Given the description of an element on the screen output the (x, y) to click on. 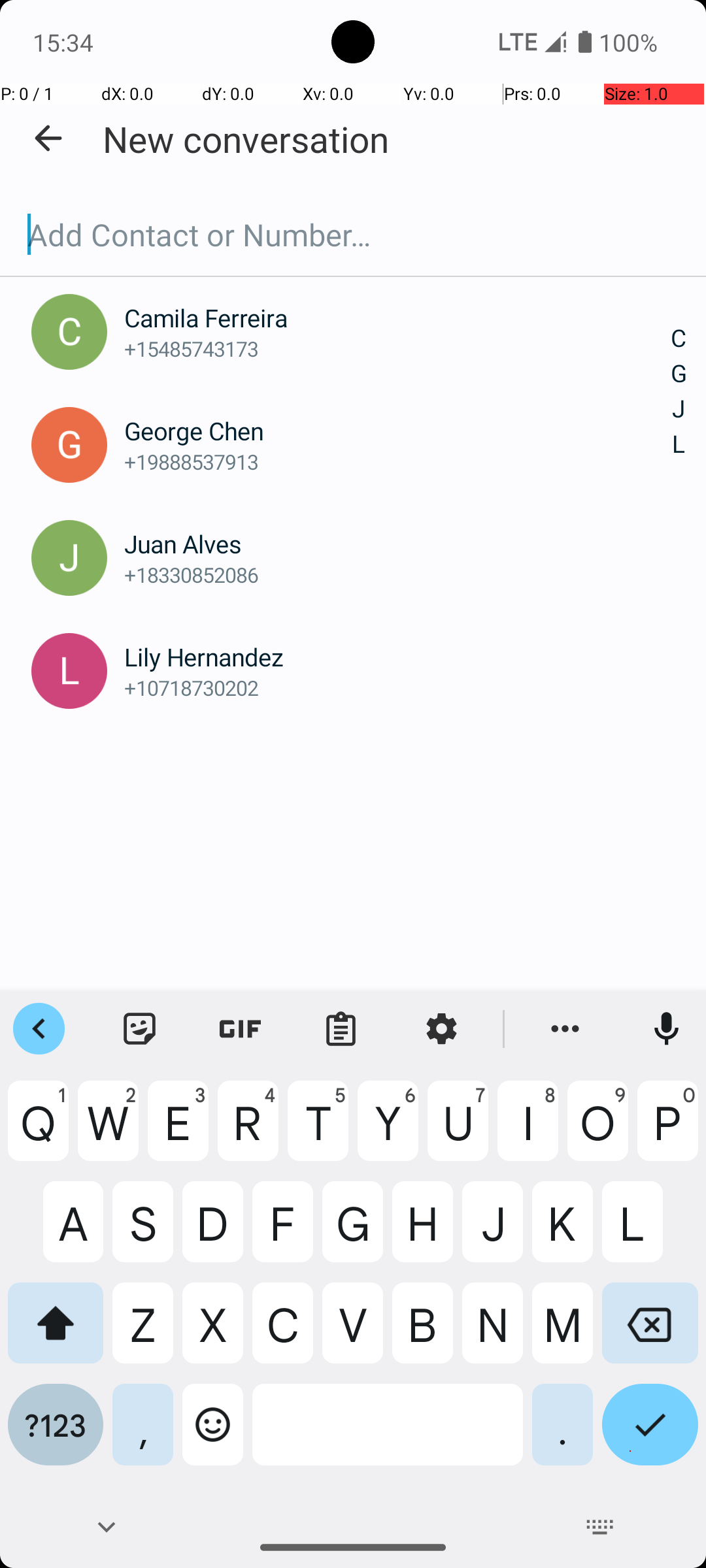
C
G
J
L Element type: android.widget.TextView (678, 391)
Camila Ferreira Element type: android.widget.TextView (397, 317)
+15485743173 Element type: android.widget.TextView (397, 348)
George Chen Element type: android.widget.TextView (397, 430)
+19888537913 Element type: android.widget.TextView (397, 461)
Juan Alves Element type: android.widget.TextView (397, 543)
+18330852086 Element type: android.widget.TextView (397, 574)
Lily Hernandez Element type: android.widget.TextView (397, 656)
+10718730202 Element type: android.widget.TextView (397, 687)
